Given the description of an element on the screen output the (x, y) to click on. 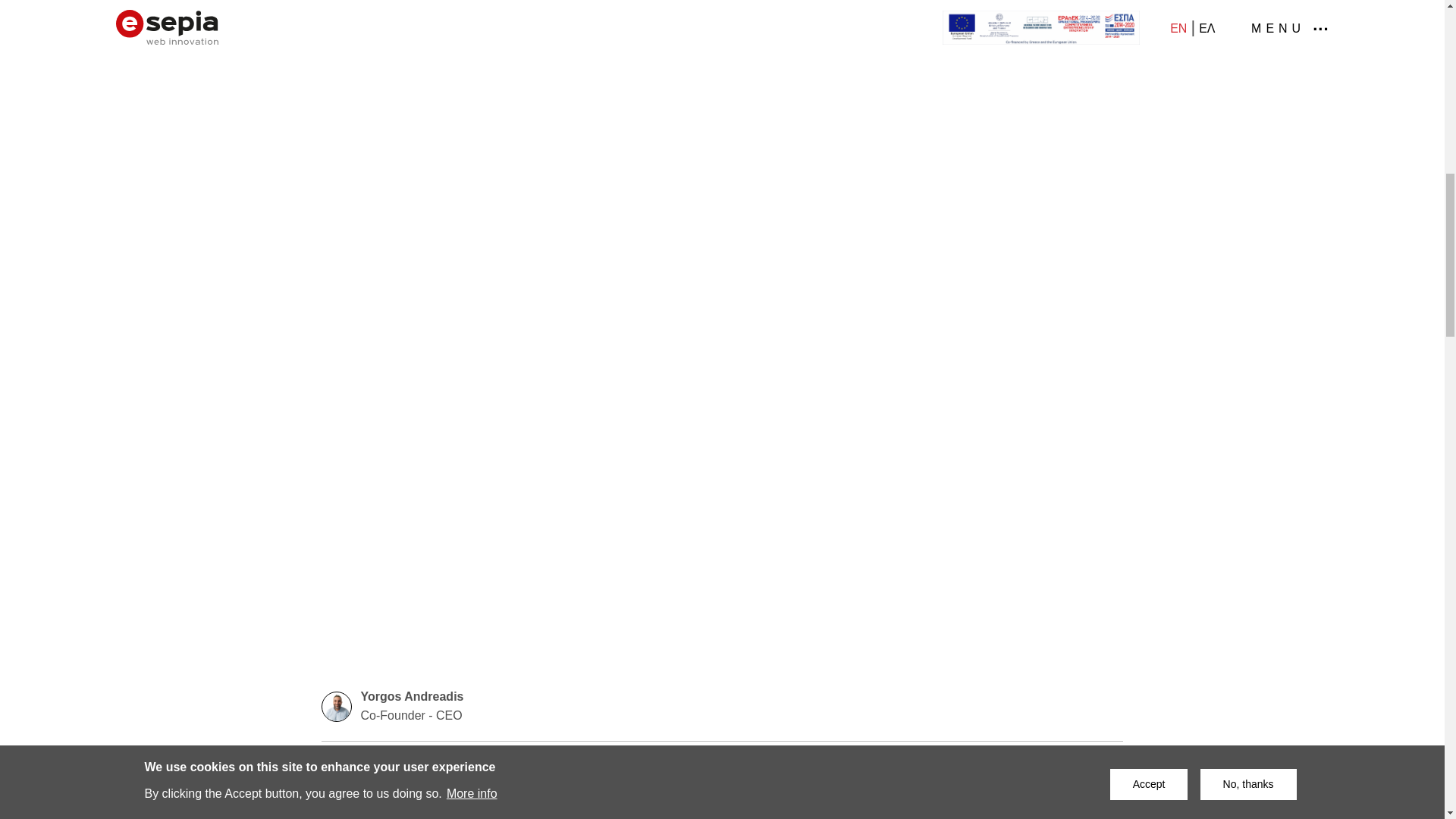
drupal greece (536, 759)
womenhack athens (432, 759)
Yorgos Andreadis - E-Sepia Web Innovation (336, 706)
